Given the description of an element on the screen output the (x, y) to click on. 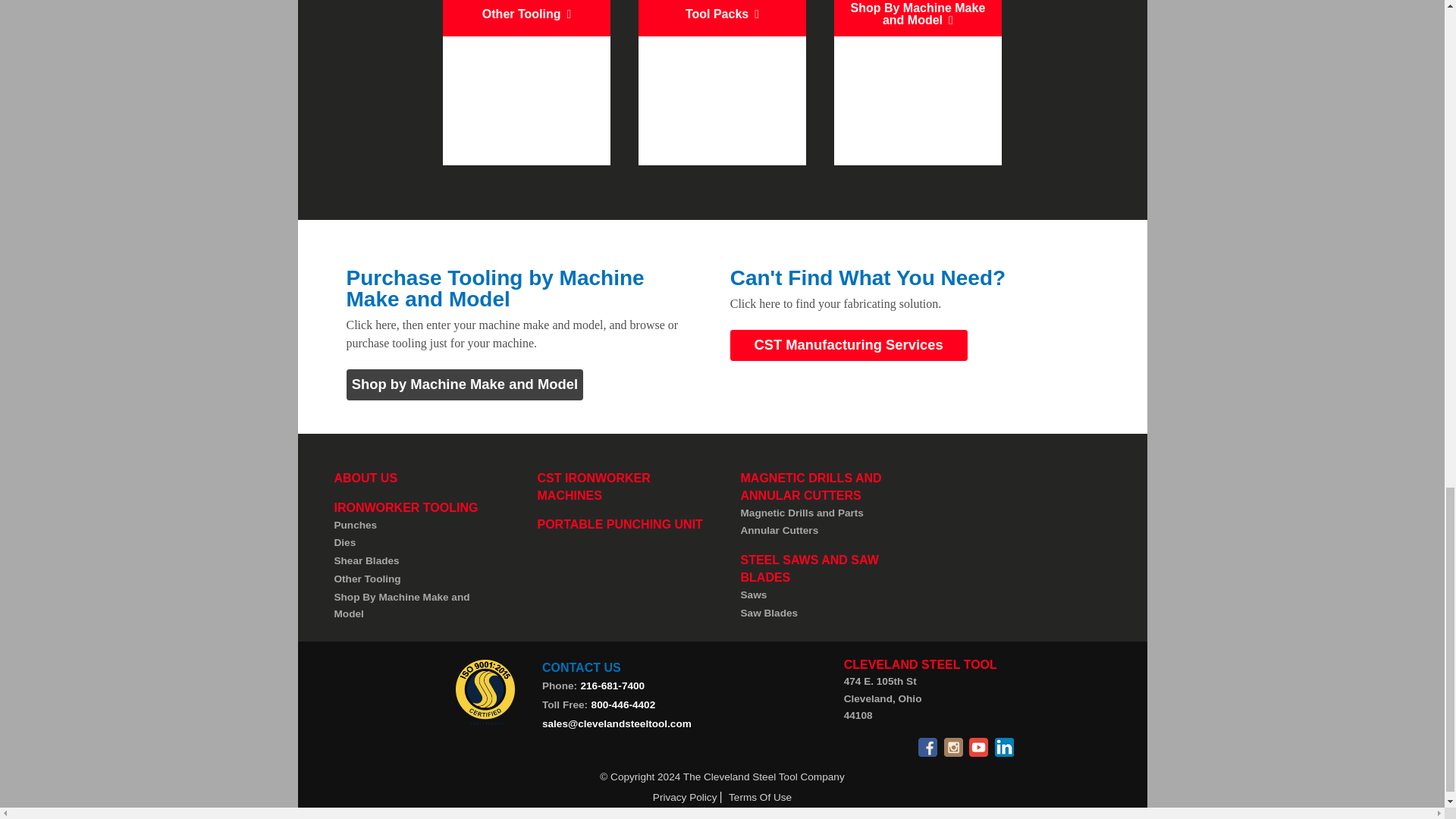
Other Tooling (526, 83)
Shop By Machine Make and Model (416, 605)
CST Manufacturing Services (849, 345)
Tool Packs (722, 83)
PORTABLE PUNCHING UNIT (619, 523)
Shear Blades (416, 561)
Other Tooling (416, 579)
Punches (416, 525)
Dies (416, 543)
ABOUT US (365, 477)
Shop by Machine Make and Model (464, 384)
Shop By Machine Make and Model (917, 83)
IRONWORKER TOOLING (405, 507)
CST IRONWORKER MACHINES (593, 486)
